Given the description of an element on the screen output the (x, y) to click on. 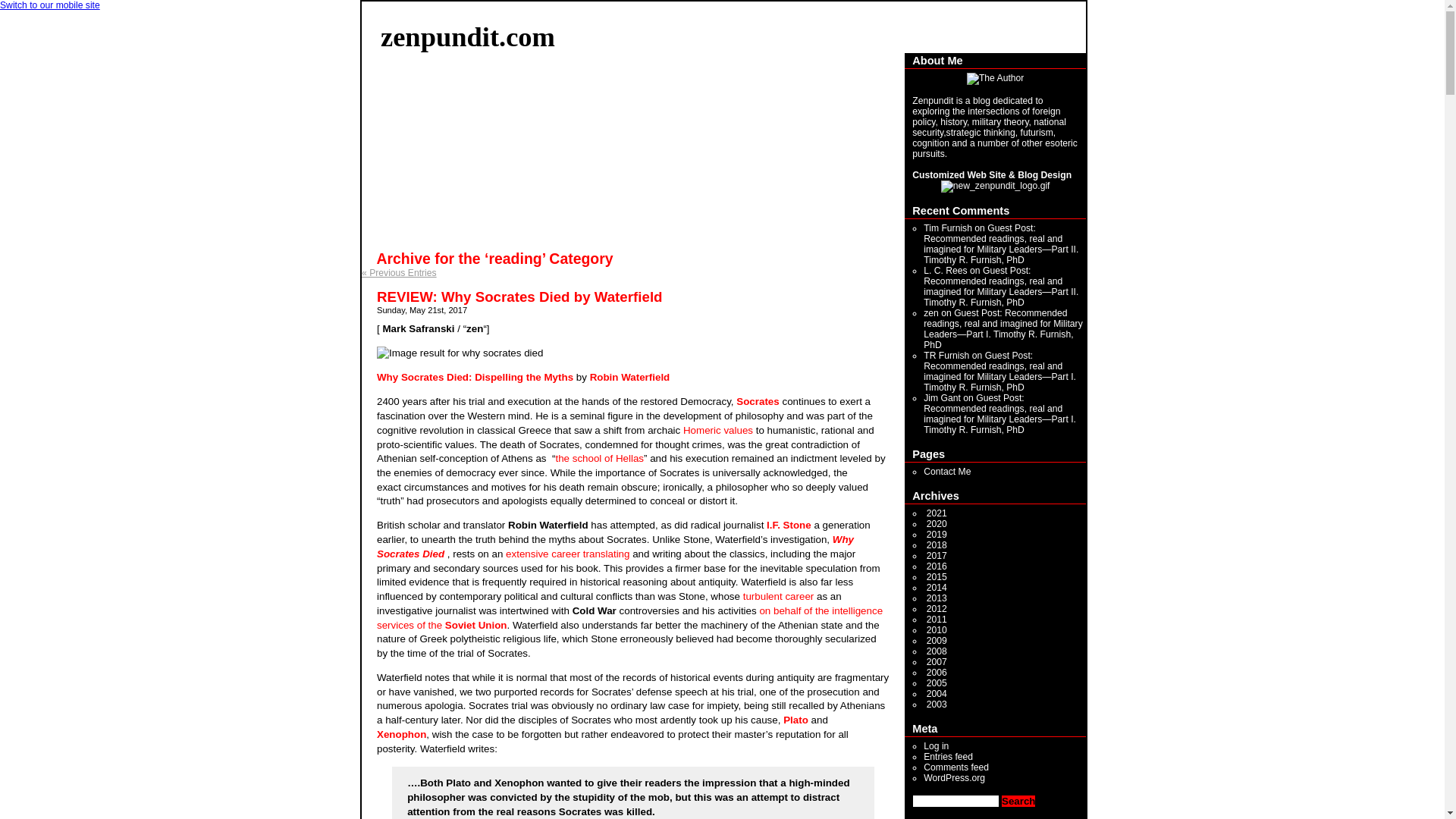
zenpundit.com (467, 36)
turbulent career (779, 595)
career (565, 553)
Plato (795, 719)
extensive (526, 553)
Robin Waterfield (629, 377)
I.F. Stone (787, 524)
View source image (460, 353)
on behalf of the intelligence services of the Soviet Union (629, 617)
Permanent Link to REVIEW: Why Socrates Died by Waterfield (519, 296)
